Given the description of an element on the screen output the (x, y) to click on. 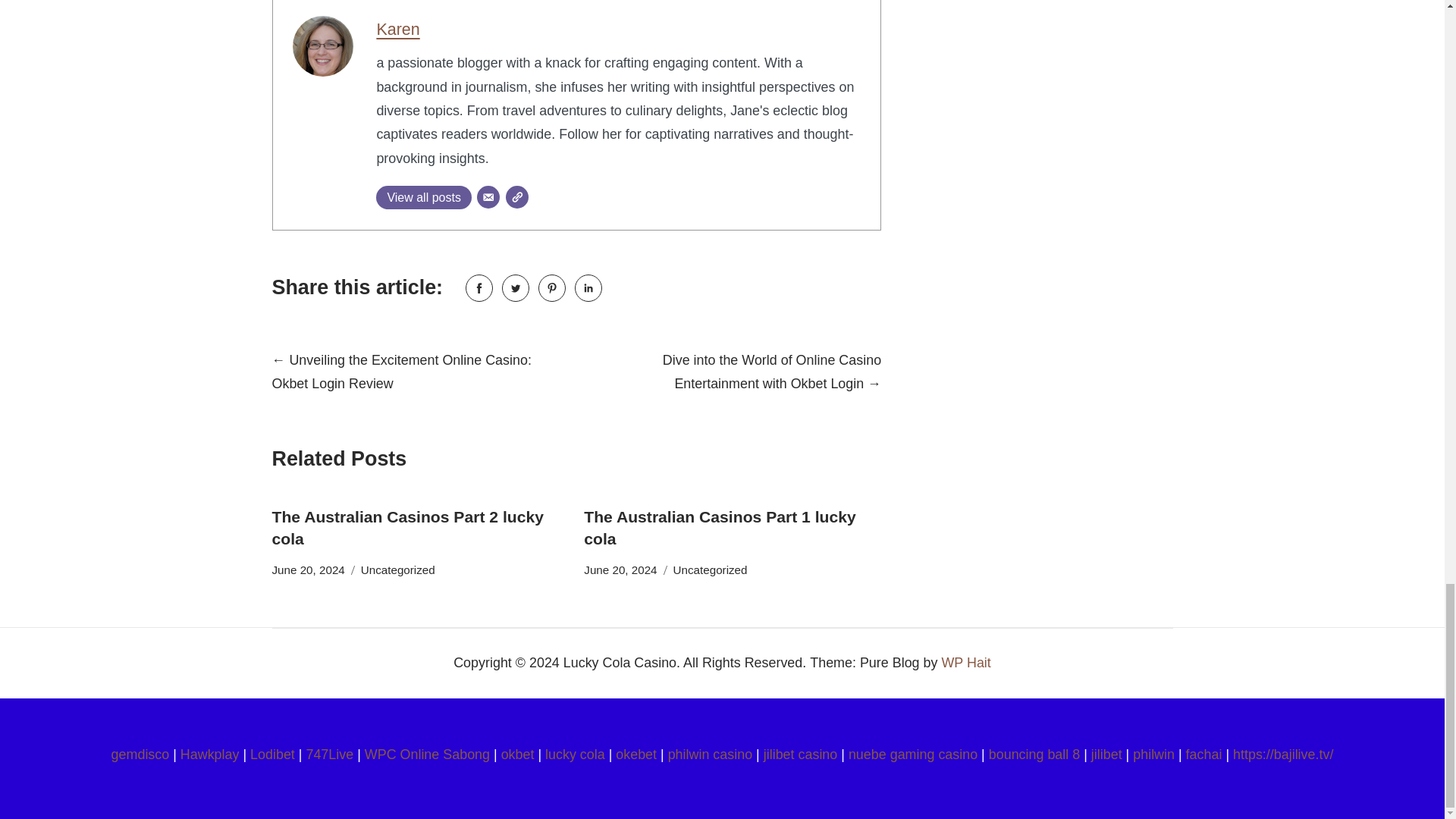
View all posts (423, 197)
Uncategorized (710, 570)
The Australian Casinos Part 1 lucky cola (719, 527)
Uncategorized (398, 570)
View all posts (423, 197)
Karen (397, 29)
Karen (397, 29)
June 20, 2024 (619, 570)
June 20, 2024 (306, 570)
The Australian Casinos Part 2 lucky cola (406, 527)
